Given the description of an element on the screen output the (x, y) to click on. 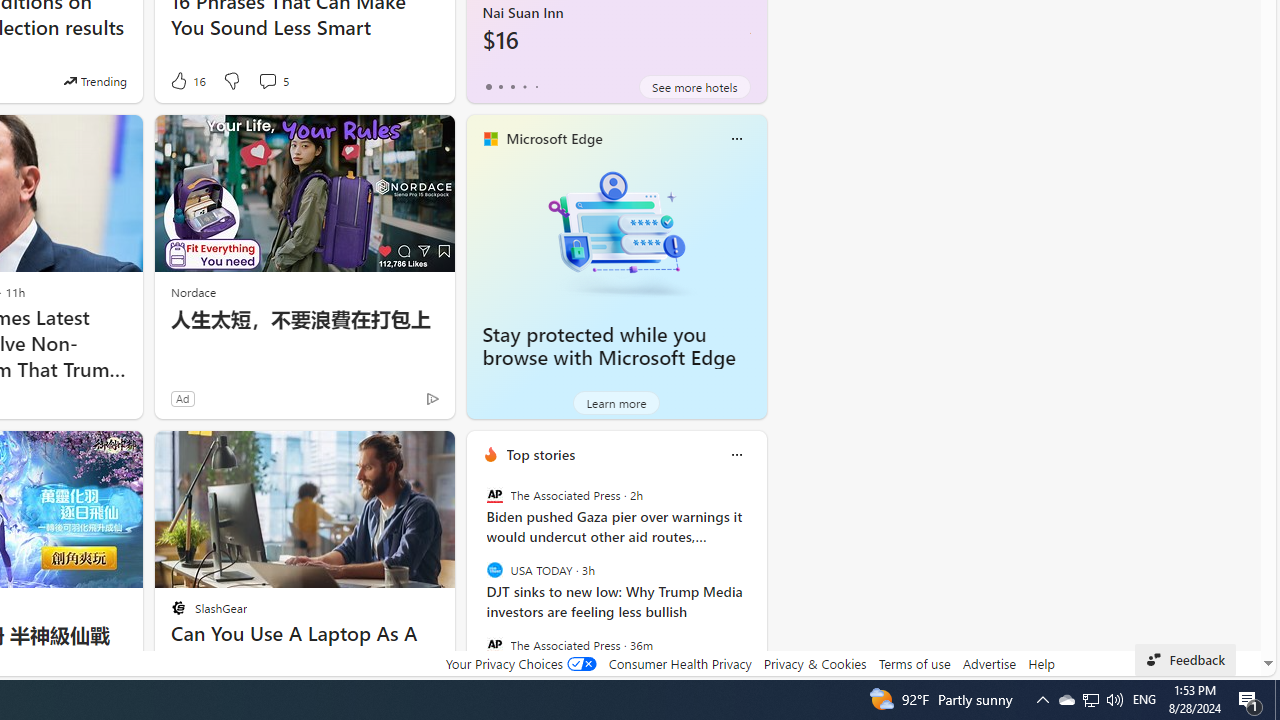
tab-3 (524, 86)
Stay protected while you browse with Microsoft Edge (609, 346)
Microsoft Edge (553, 139)
Nordace (193, 291)
Stay protected while you browse with Microsoft Edge (616, 232)
More options (736, 454)
next (756, 583)
USA TODAY (494, 570)
View comments 5 Comment (267, 80)
